Given the description of an element on the screen output the (x, y) to click on. 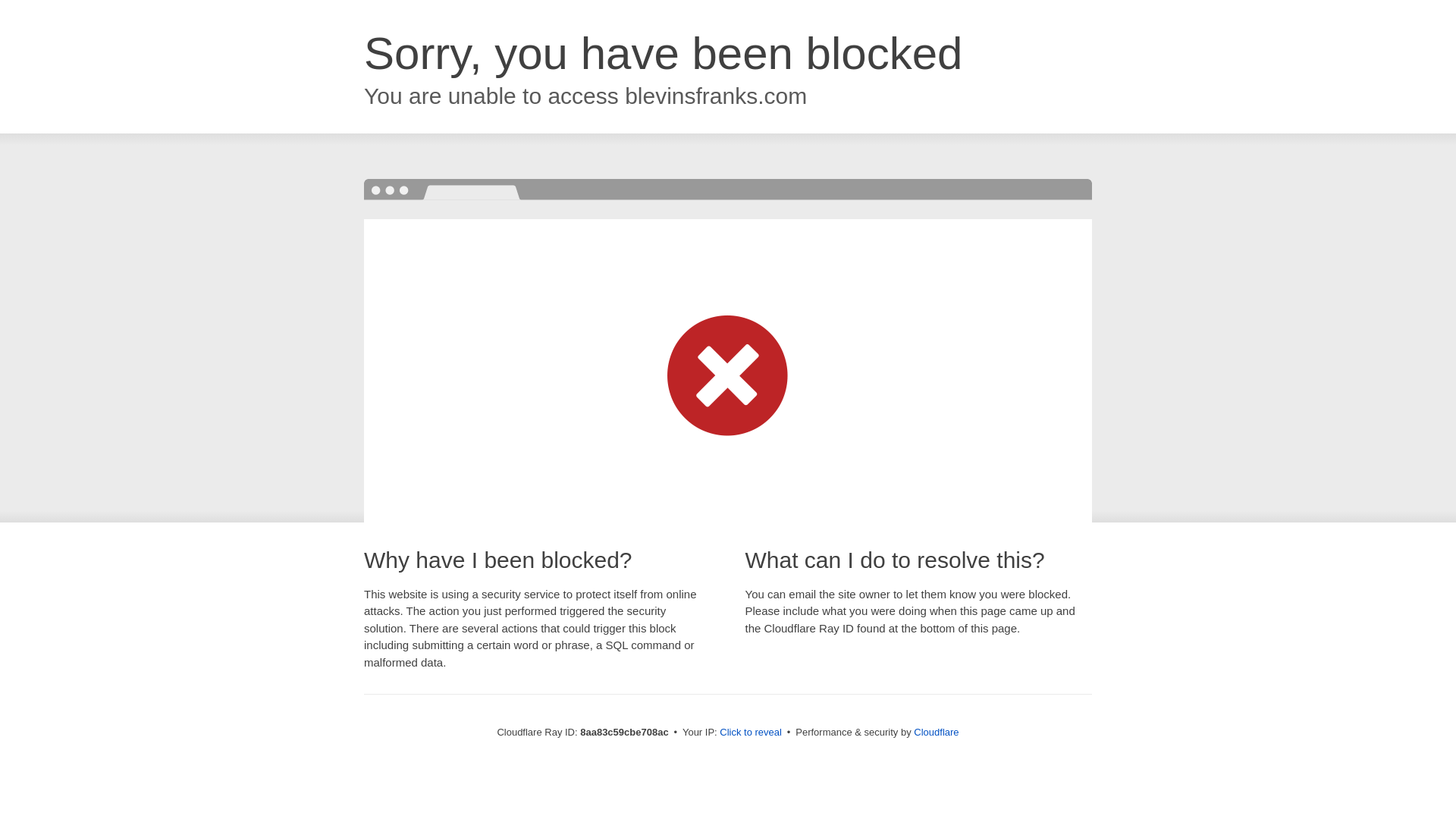
Cloudflare (936, 731)
Click to reveal (750, 732)
